Given the description of an element on the screen output the (x, y) to click on. 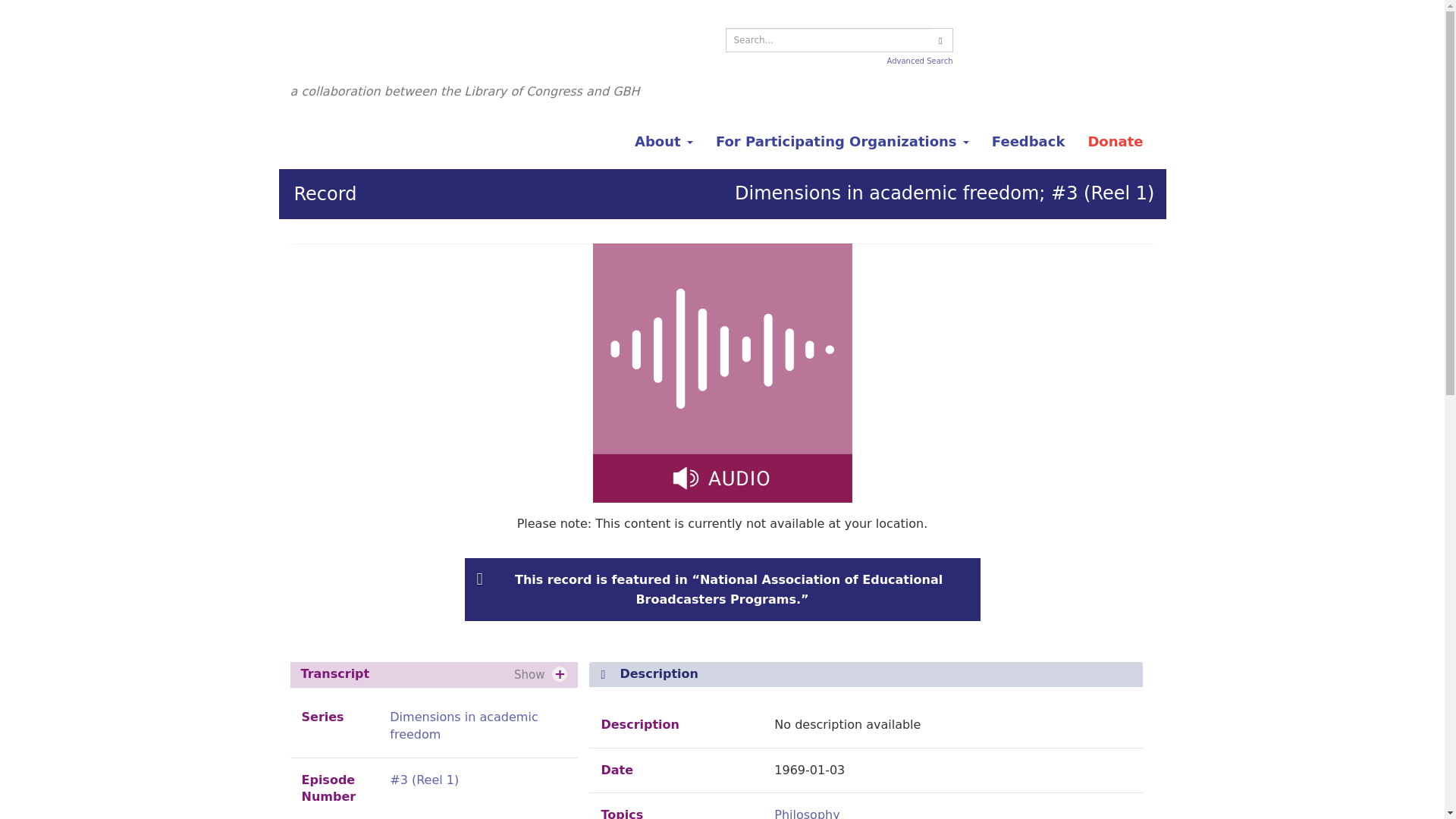
Feedback (1028, 141)
Advanced Search (919, 60)
American Archive of Public Broadcasting (446, 50)
About (663, 141)
Donate (1114, 141)
FIX IT: A TRANSCRIPT GAME (1062, 41)
For Participating Organizations (841, 141)
